Given the description of an element on the screen output the (x, y) to click on. 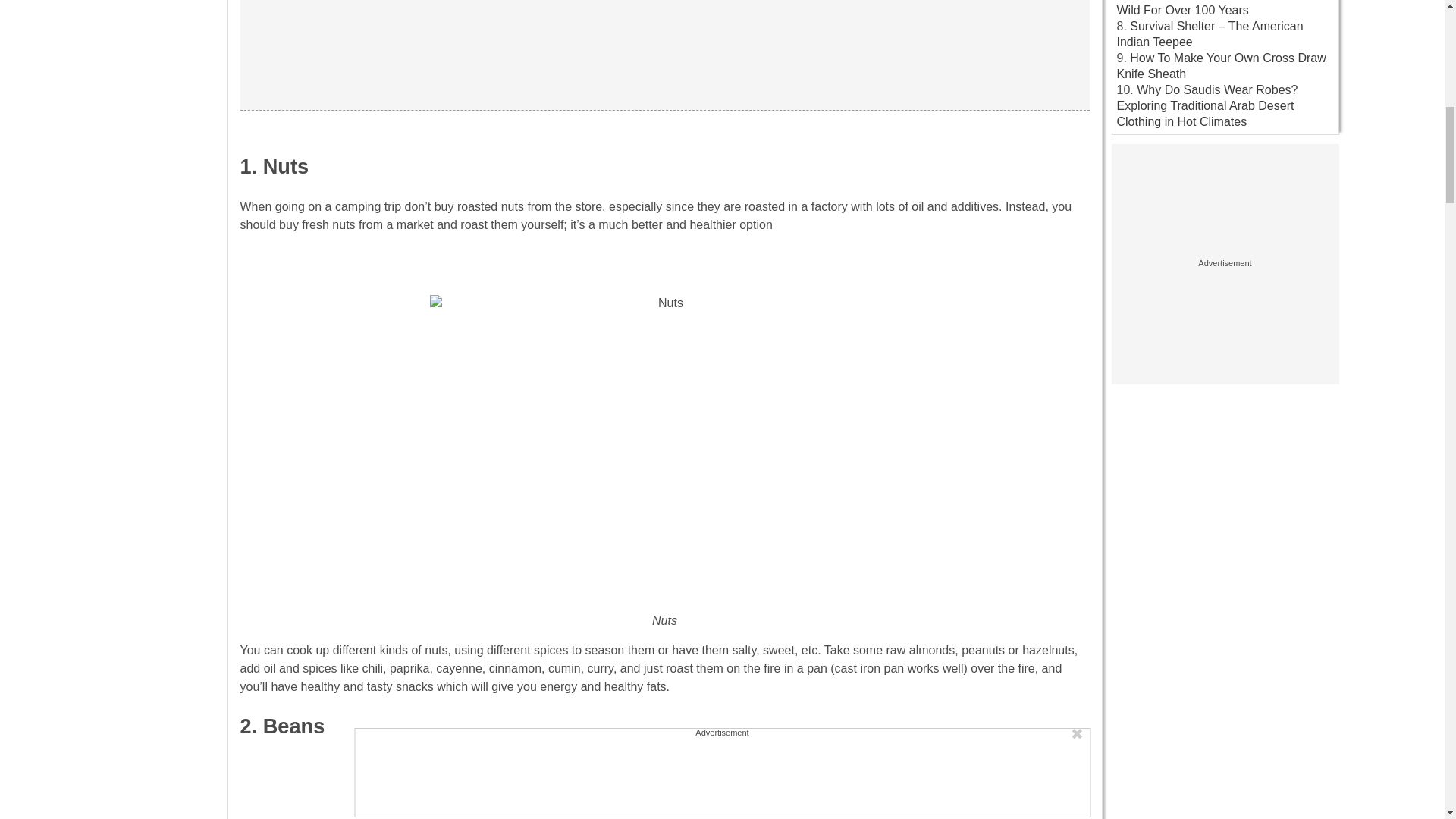
How To Make Your Own Cross Draw Knife Sheath (1220, 65)
The First Wolverines Seen In The Wild For Over 100 Years (1213, 8)
